Given the description of an element on the screen output the (x, y) to click on. 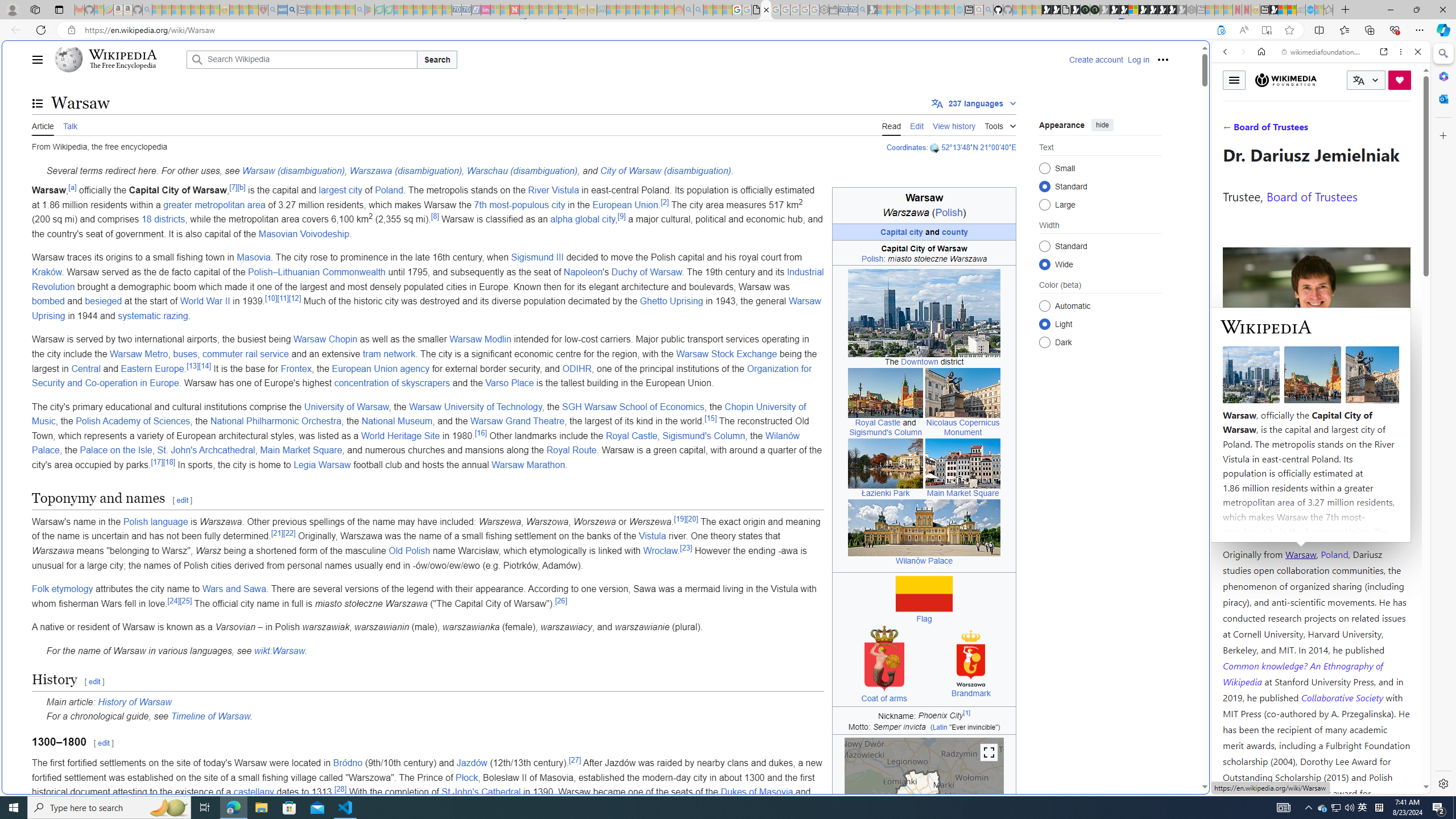
Latin (939, 727)
Polish Academy of Sciences (132, 421)
Small (1044, 167)
Royal Castle and Sigismund's Column (885, 392)
Coat of arms of Warsaw (883, 658)
Main menu (37, 59)
Warsaw Modlin (480, 339)
Old Polish (409, 550)
Nicolaus Copernicus Monument (963, 427)
Wiktionary (1315, 380)
